Given the description of an element on the screen output the (x, y) to click on. 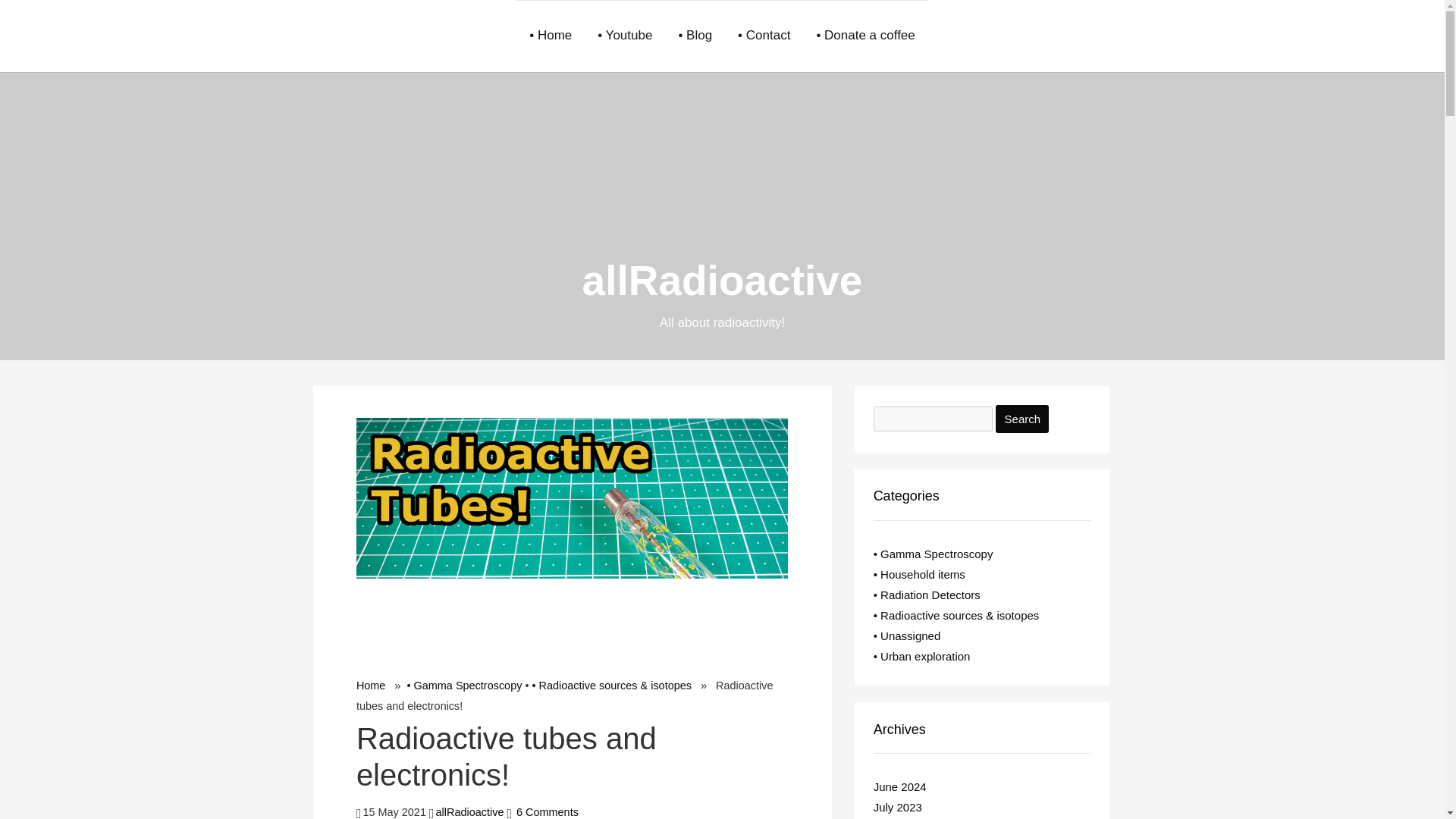
Search (1021, 419)
Posts by allRadioactive (469, 811)
Search (1021, 419)
allRadioactive (469, 811)
Home (370, 685)
6 Comments (547, 811)
allRadioactive (722, 280)
